Given the description of an element on the screen output the (x, y) to click on. 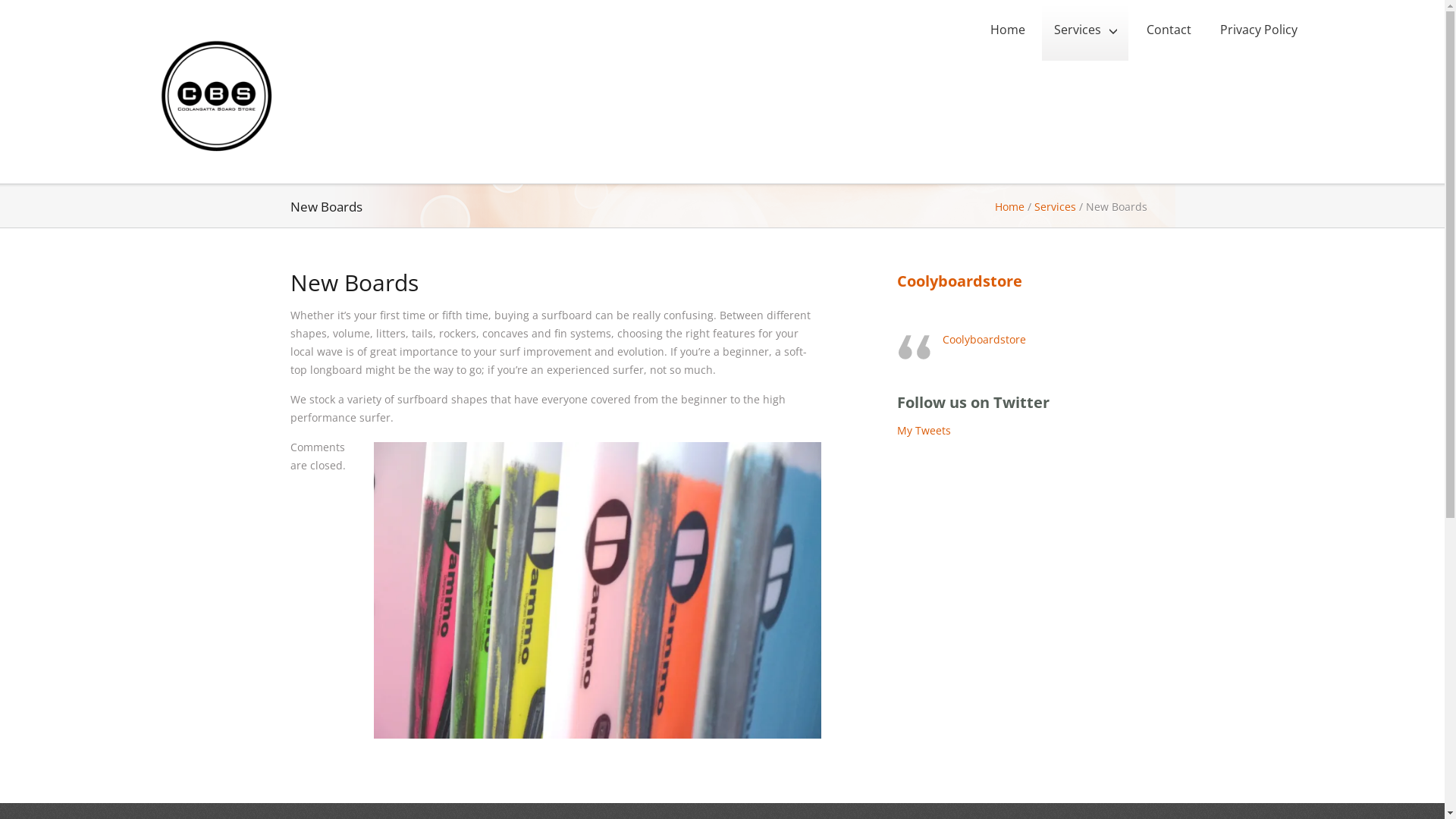
Services Element type: text (1084, 30)
My Tweets Element type: text (923, 430)
Home Element type: text (1009, 206)
Coolyboardstore Element type: text (983, 339)
Home Element type: text (1006, 30)
Privacy Policy Element type: text (1257, 30)
Services Element type: text (1055, 206)
Contact Element type: text (1167, 30)
Coolyboardstore Element type: text (958, 280)
